Given the description of an element on the screen output the (x, y) to click on. 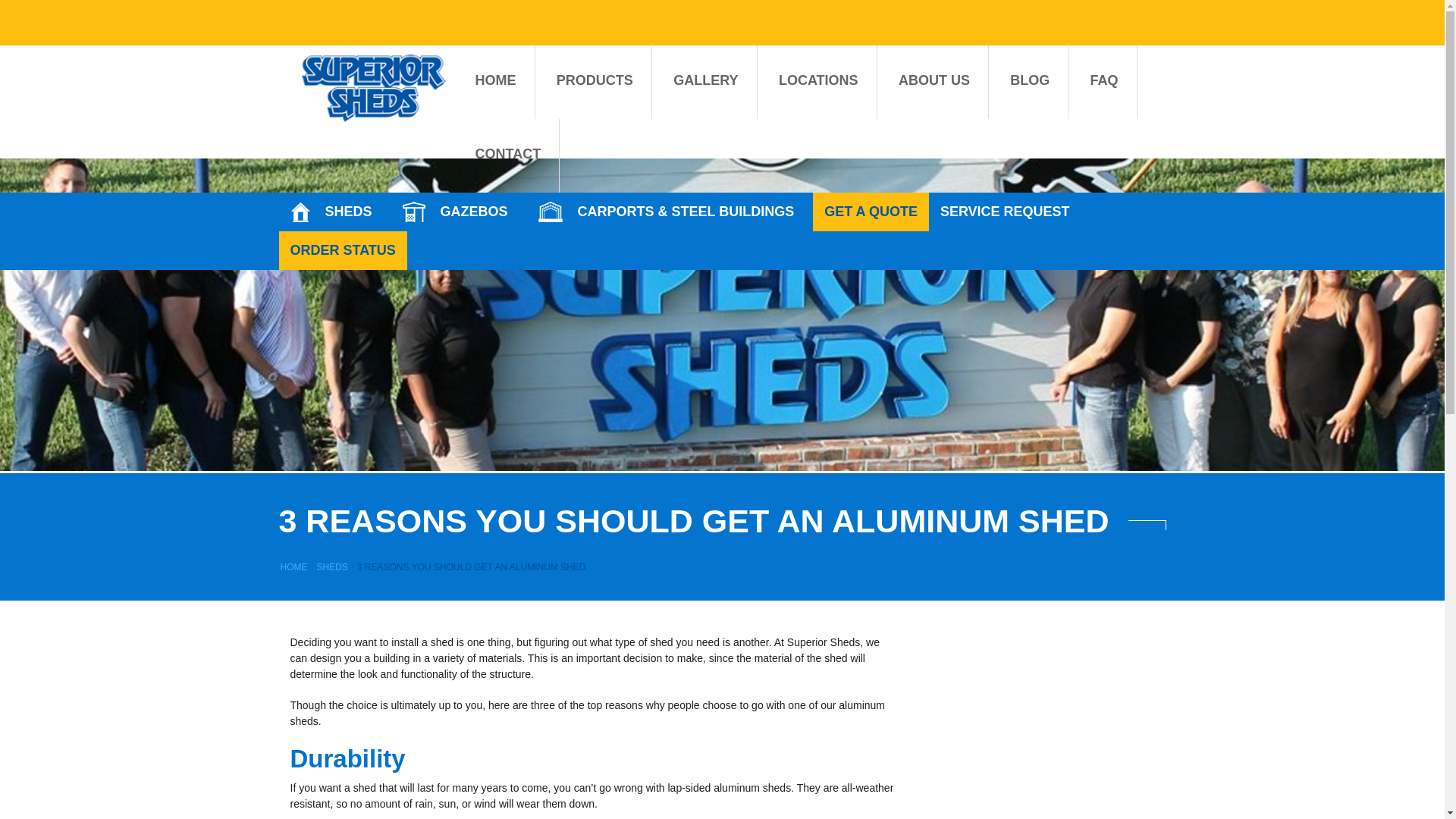
HOME (294, 566)
FAQ (1104, 79)
HOME (494, 79)
LOCATIONS (818, 79)
SHEDS (332, 566)
CONTACT (507, 153)
GAZEBOS (459, 211)
ABOUT US (933, 79)
PRODUCTS (594, 79)
GALLERY (705, 79)
